Given the description of an element on the screen output the (x, y) to click on. 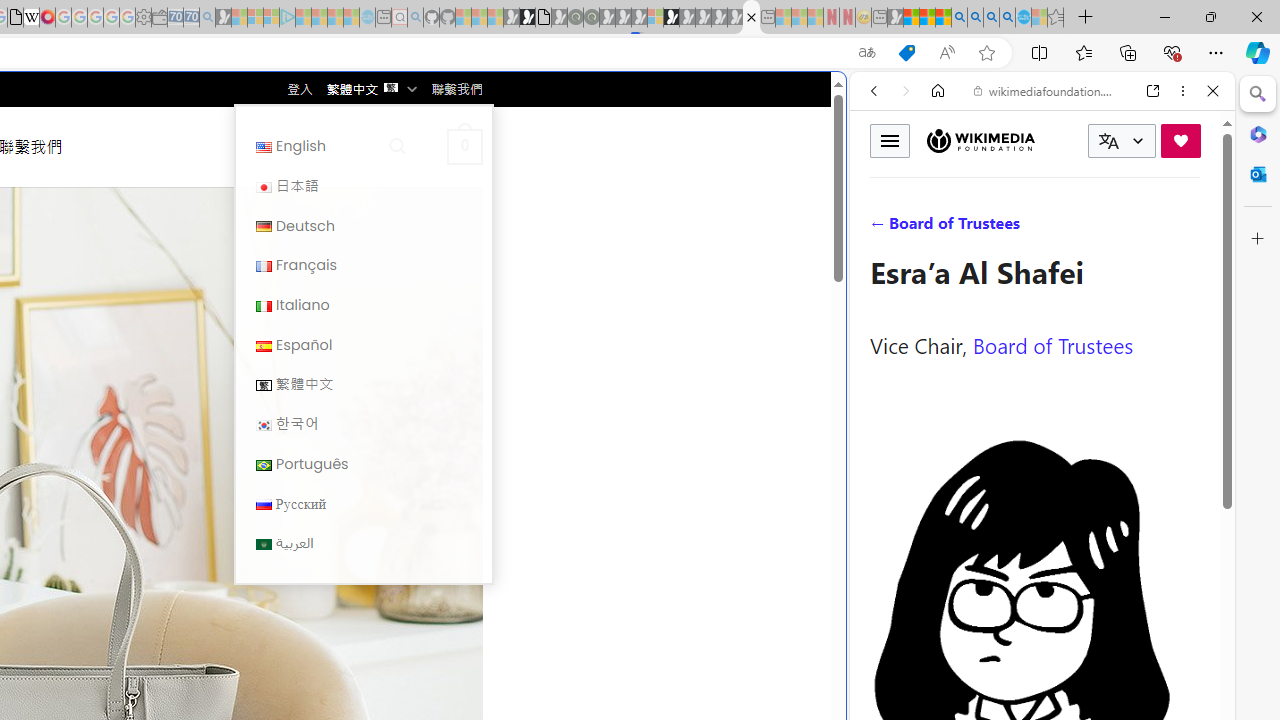
English (263, 146)
  0   (464, 146)
